Given the description of an element on the screen output the (x, y) to click on. 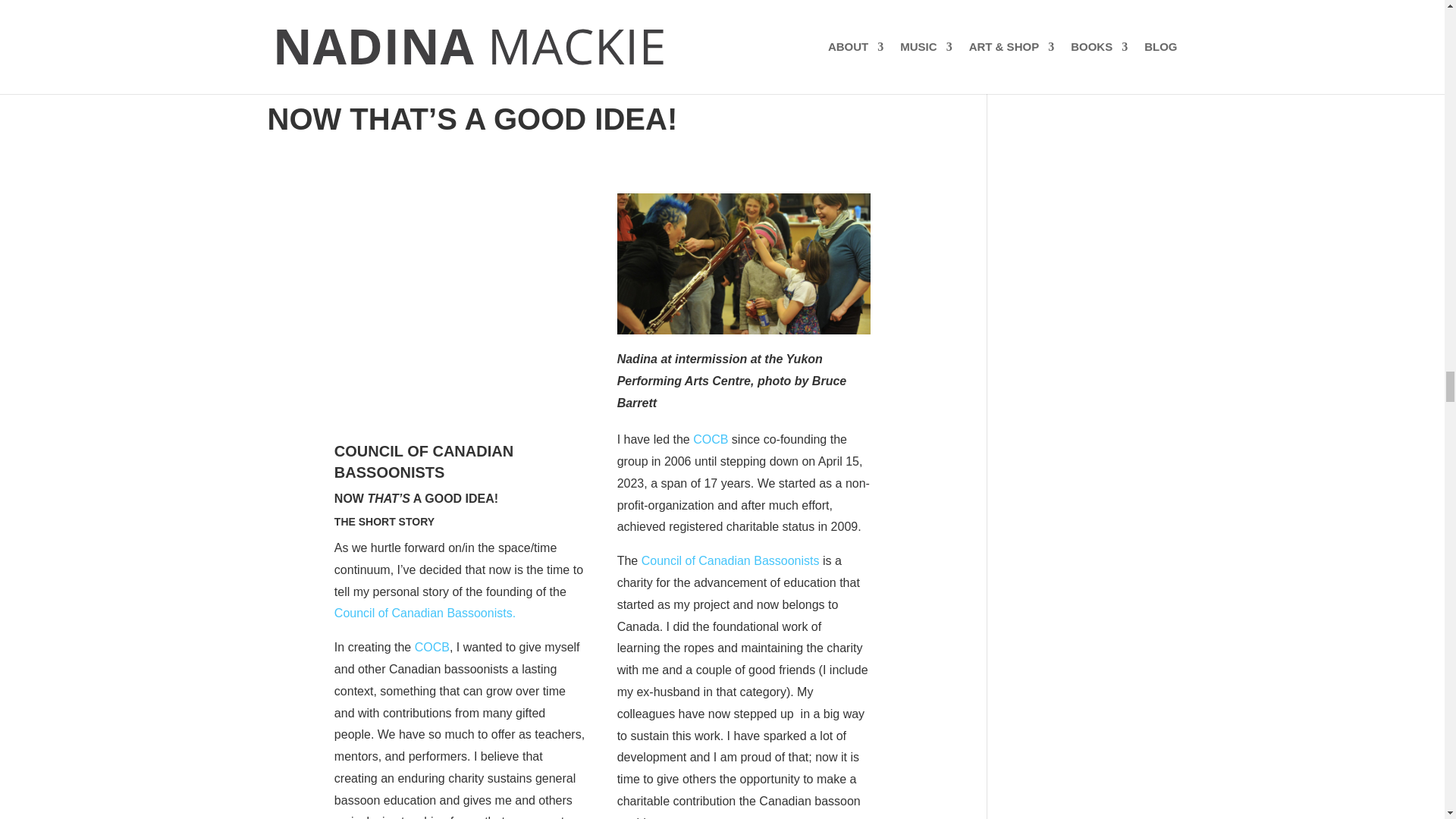
Yukon Performing Arts Centre. Bruce Barrett croppedjpeg (743, 263)
